Given the description of an element on the screen output the (x, y) to click on. 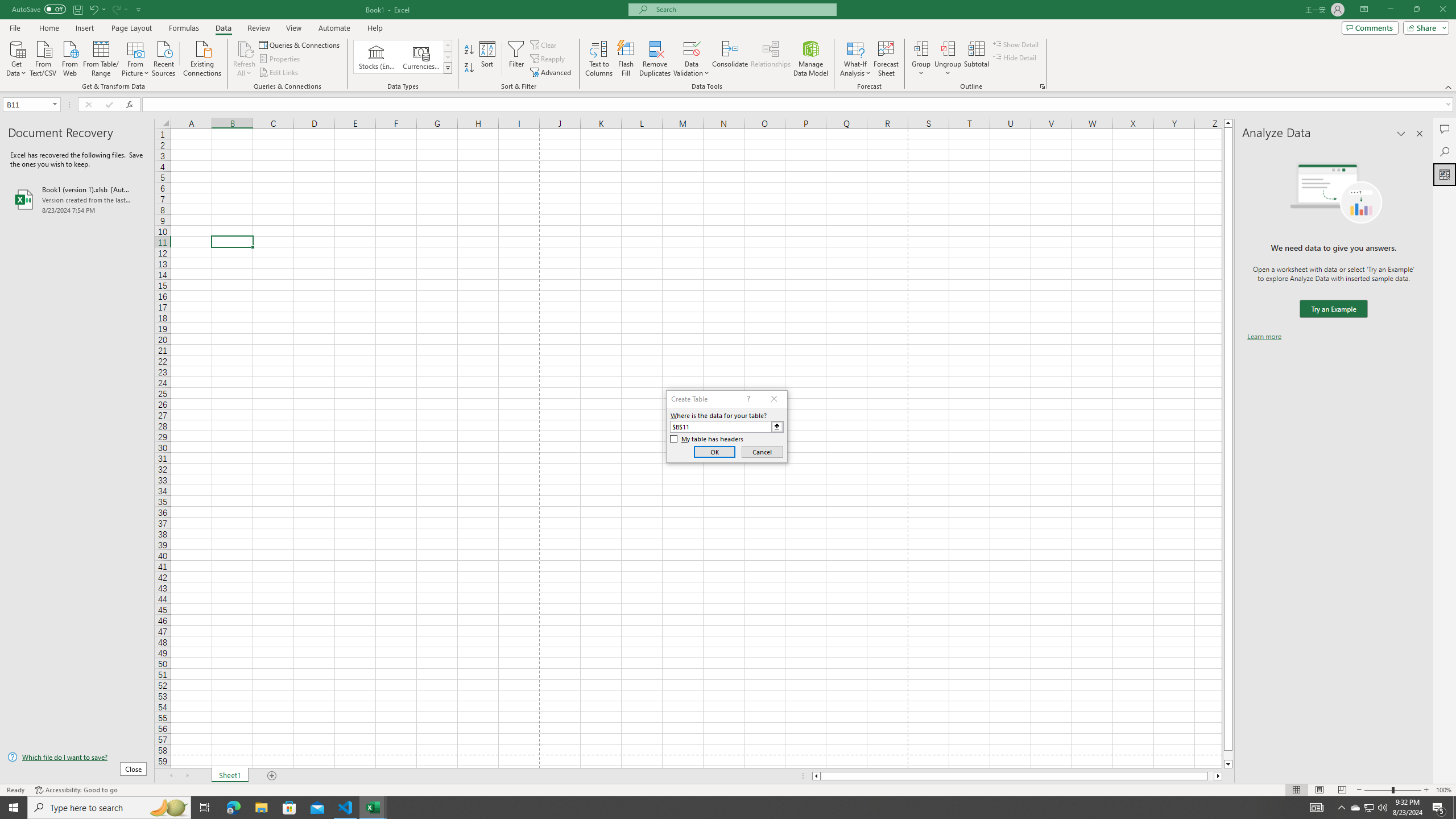
From Table/Range (100, 57)
Show Detail (1016, 44)
Search (1444, 151)
Advanced... (551, 72)
Ungroup... (947, 58)
